Given the description of an element on the screen output the (x, y) to click on. 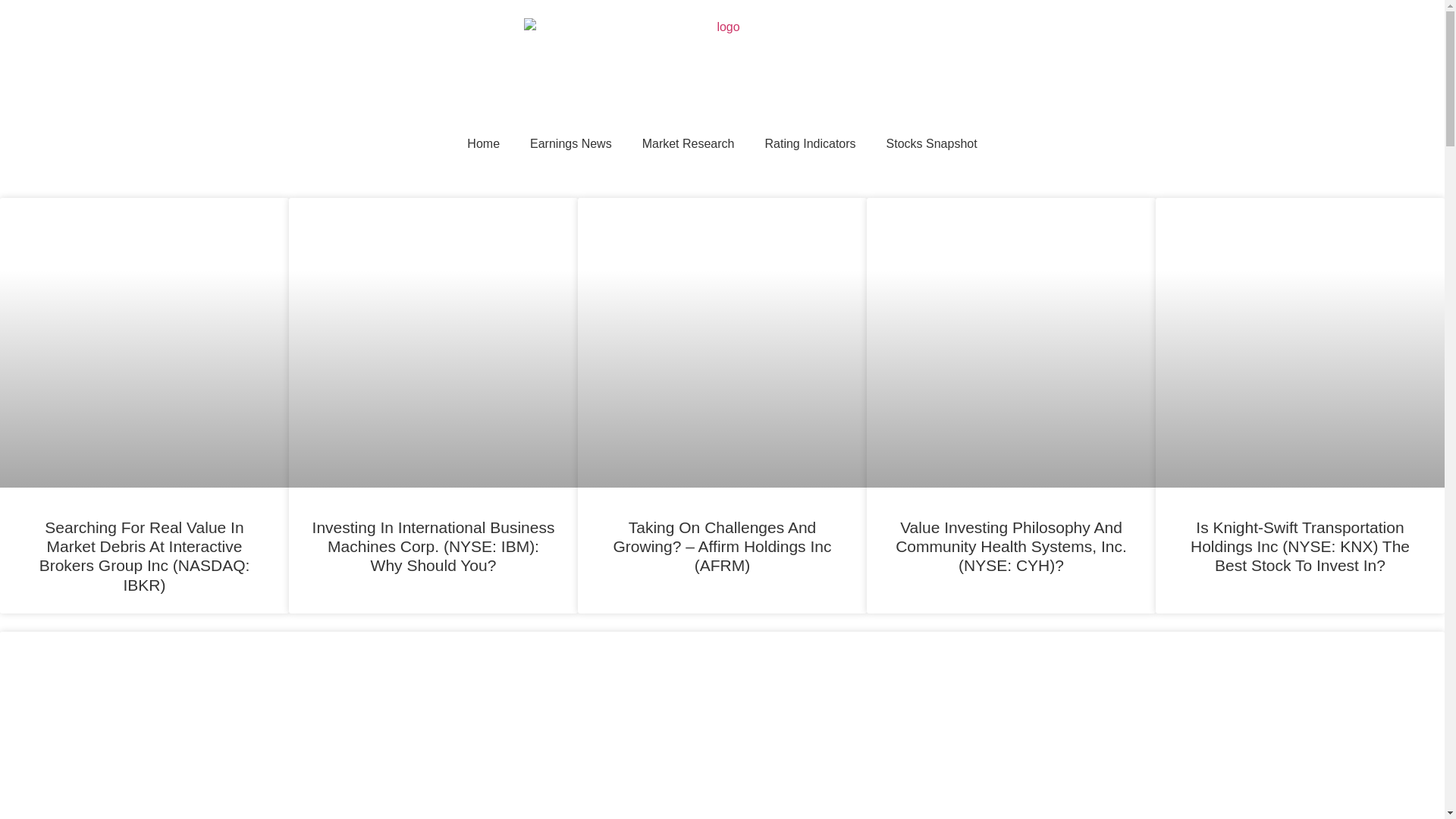
Rating Indicators (809, 143)
Earnings News (571, 143)
Market Research (688, 143)
Home (483, 143)
Stocks Snapshot (931, 143)
